Given the description of an element on the screen output the (x, y) to click on. 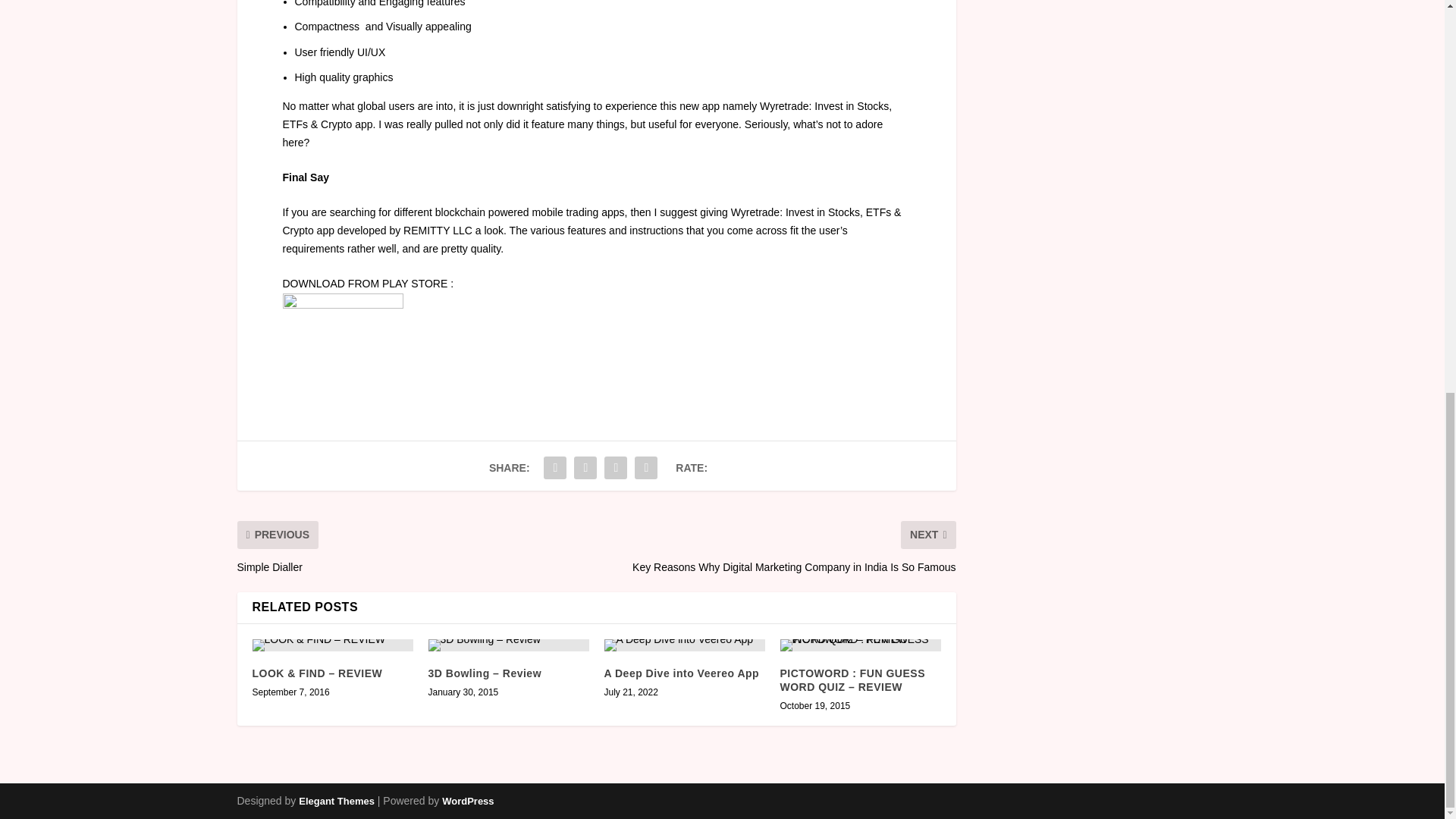
A Deep Dive into Veereo App (681, 673)
Premium WordPress Themes (336, 800)
A Deep Dive into Veereo App (684, 645)
